Given the description of an element on the screen output the (x, y) to click on. 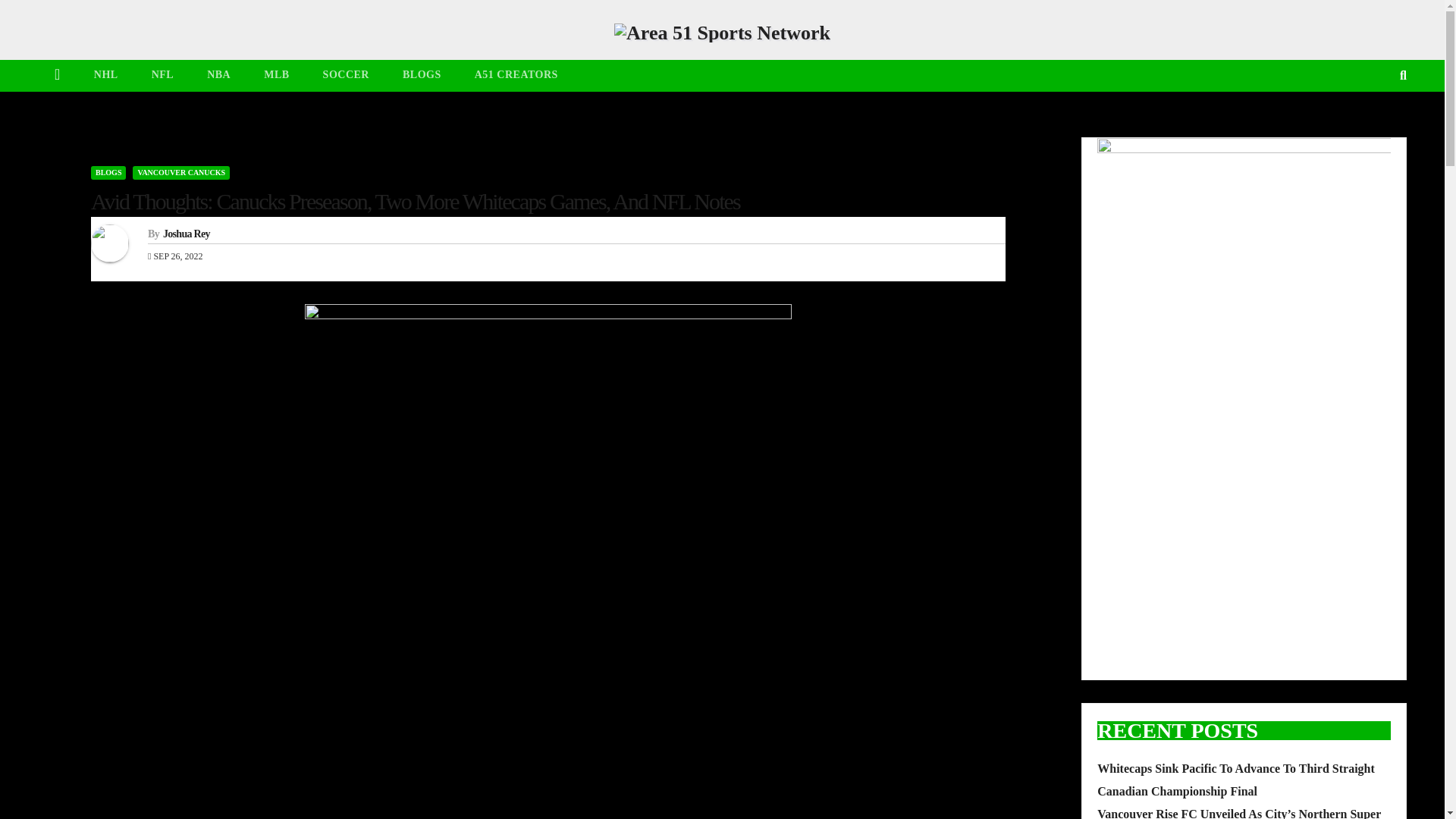
SOCCER (345, 74)
NHL (106, 74)
NBA (218, 74)
Joshua Rey (186, 233)
NFL (162, 74)
NHL (106, 74)
Home (57, 75)
A51 CREATORS (516, 74)
VANCOUVER CANUCKS (181, 172)
BLOGS (107, 172)
